Given the description of an element on the screen output the (x, y) to click on. 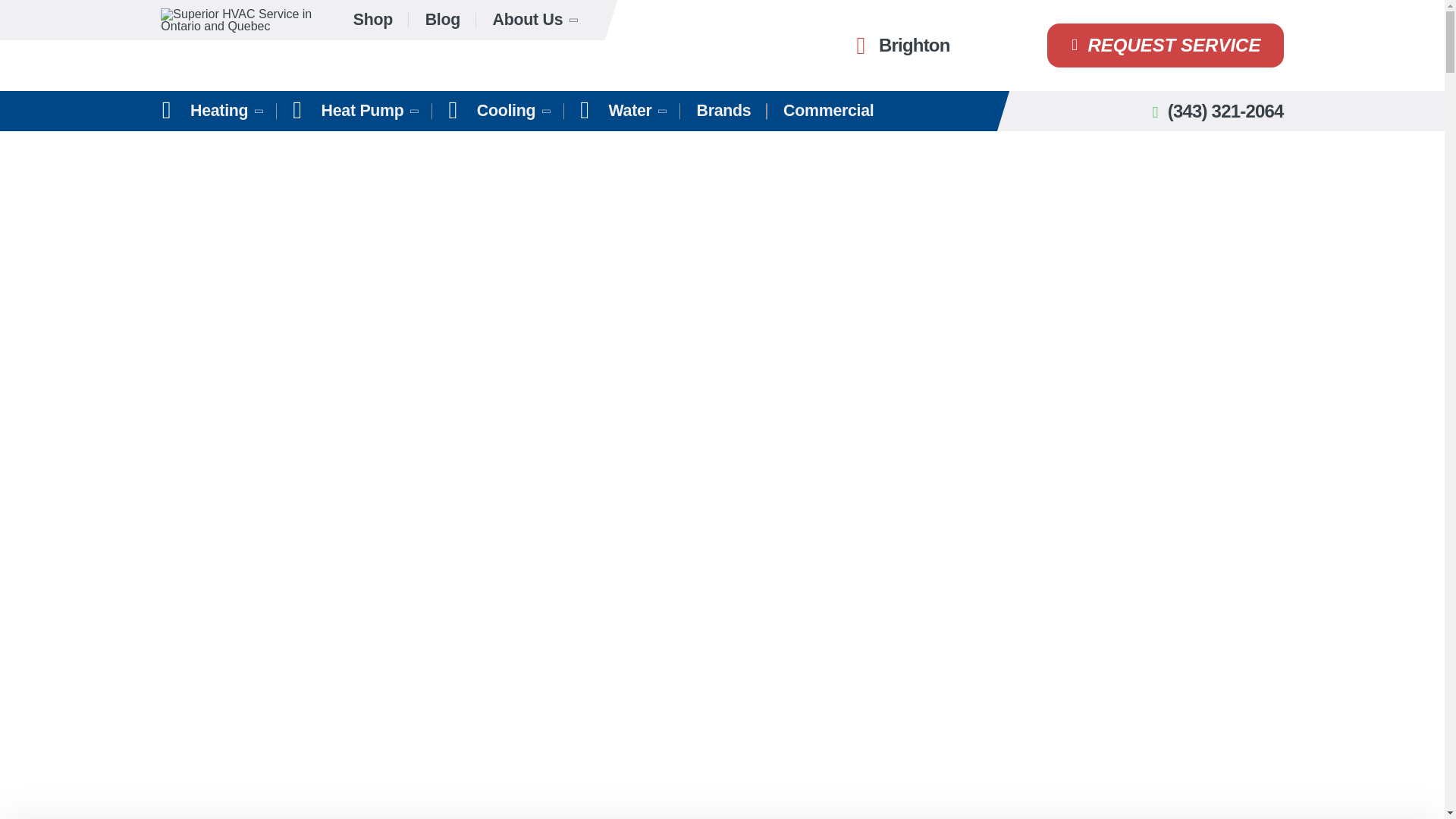
Shop (373, 19)
Commercial (828, 111)
Brands (724, 111)
REQUEST SERVICE (1165, 45)
Blog (442, 19)
Brighton (899, 45)
